Given the description of an element on the screen output the (x, y) to click on. 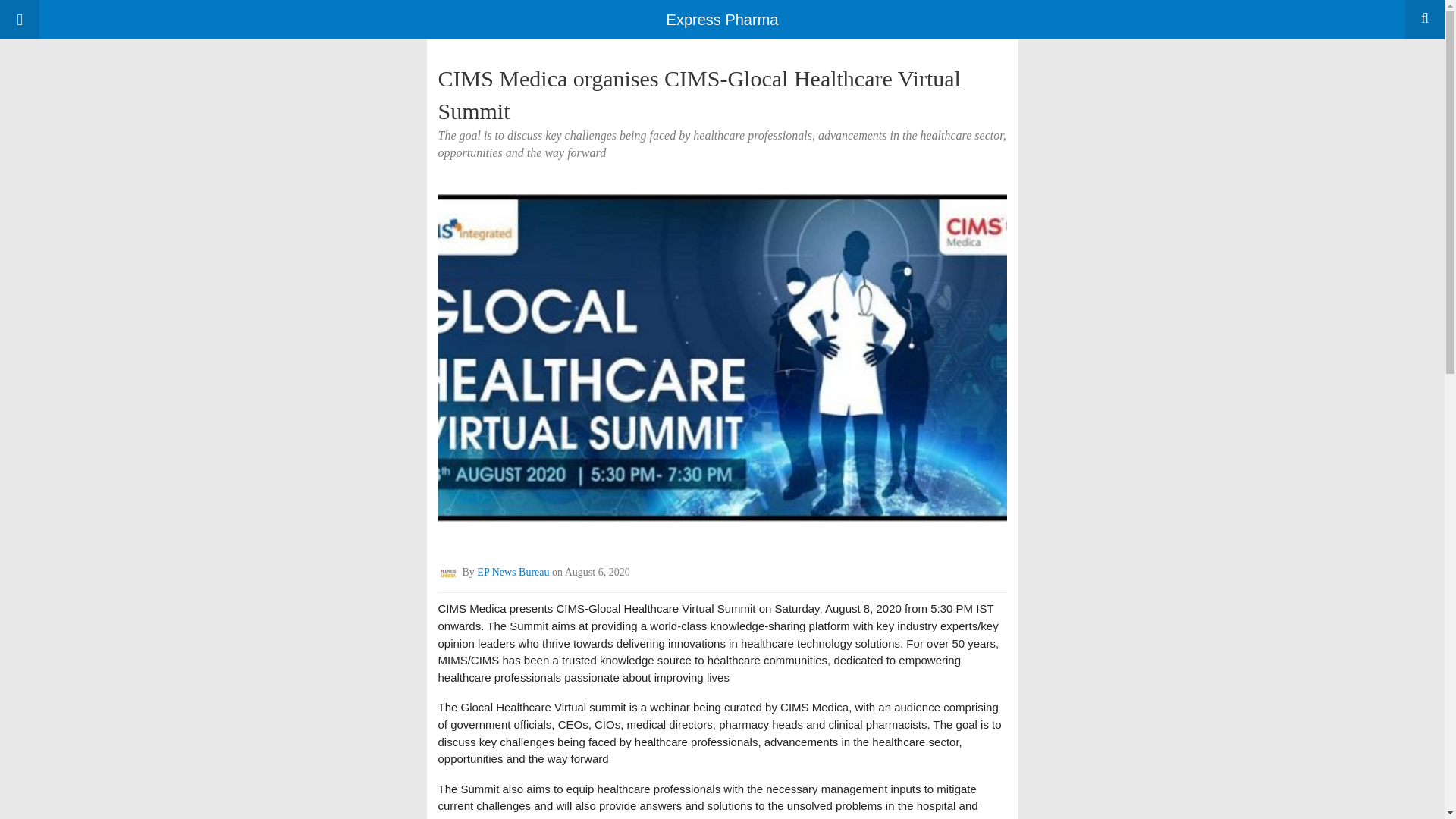
EP News Bureau (512, 572)
